Given the description of an element on the screen output the (x, y) to click on. 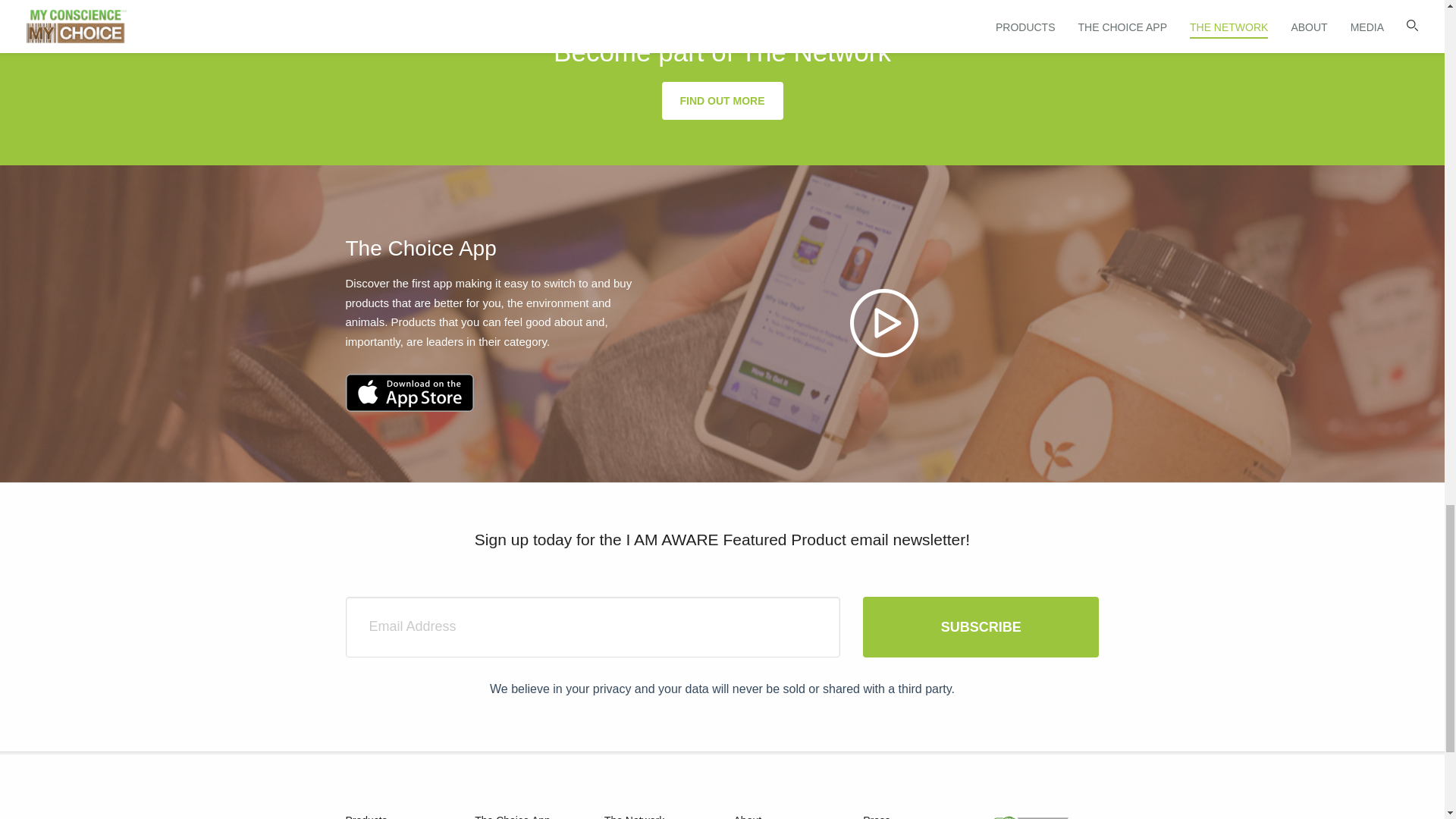
FIND OUT MORE (722, 100)
SUBSCRIBE (981, 627)
